Given the description of an element on the screen output the (x, y) to click on. 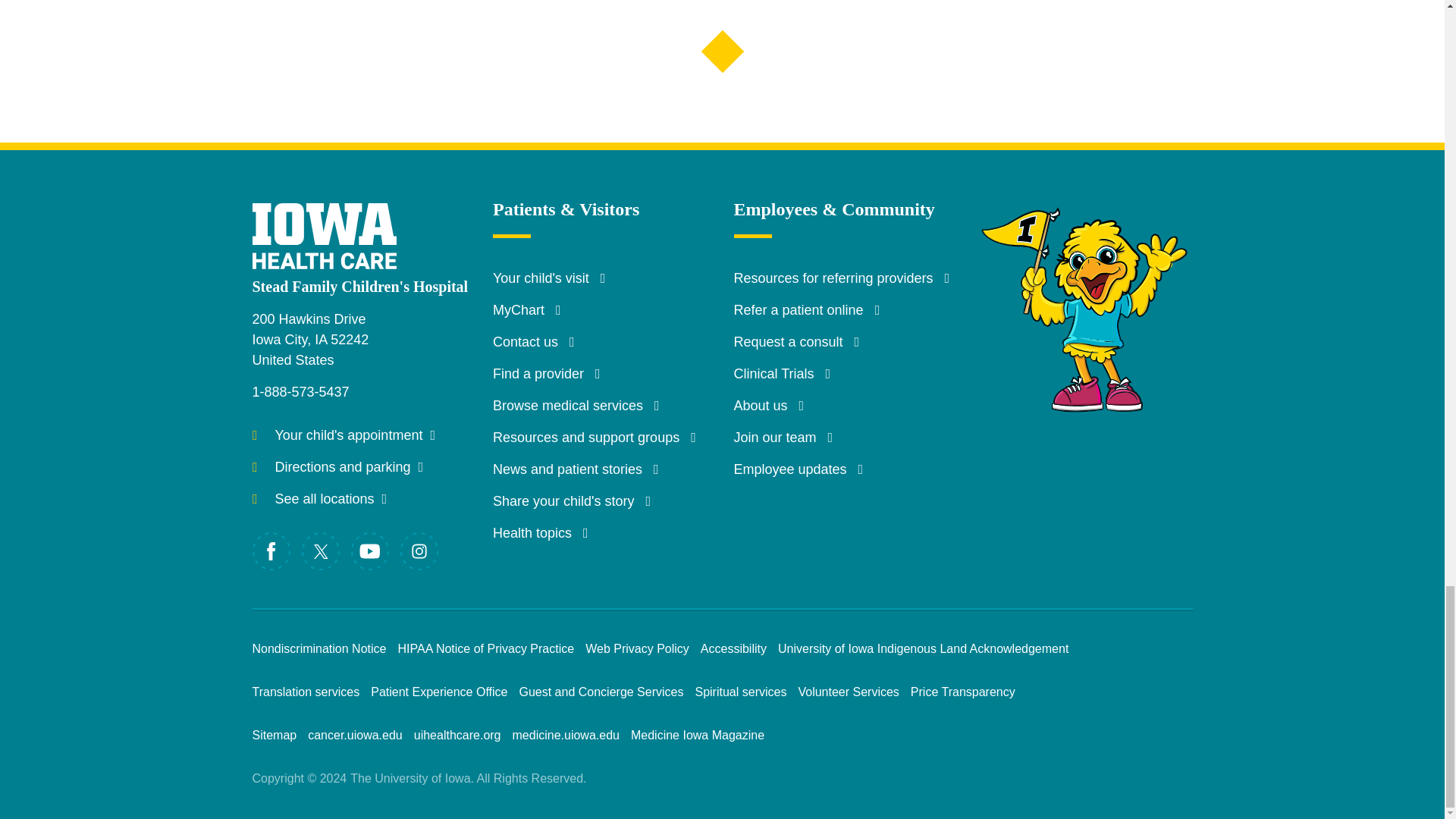
Home (338, 224)
